Given the description of an element on the screen output the (x, y) to click on. 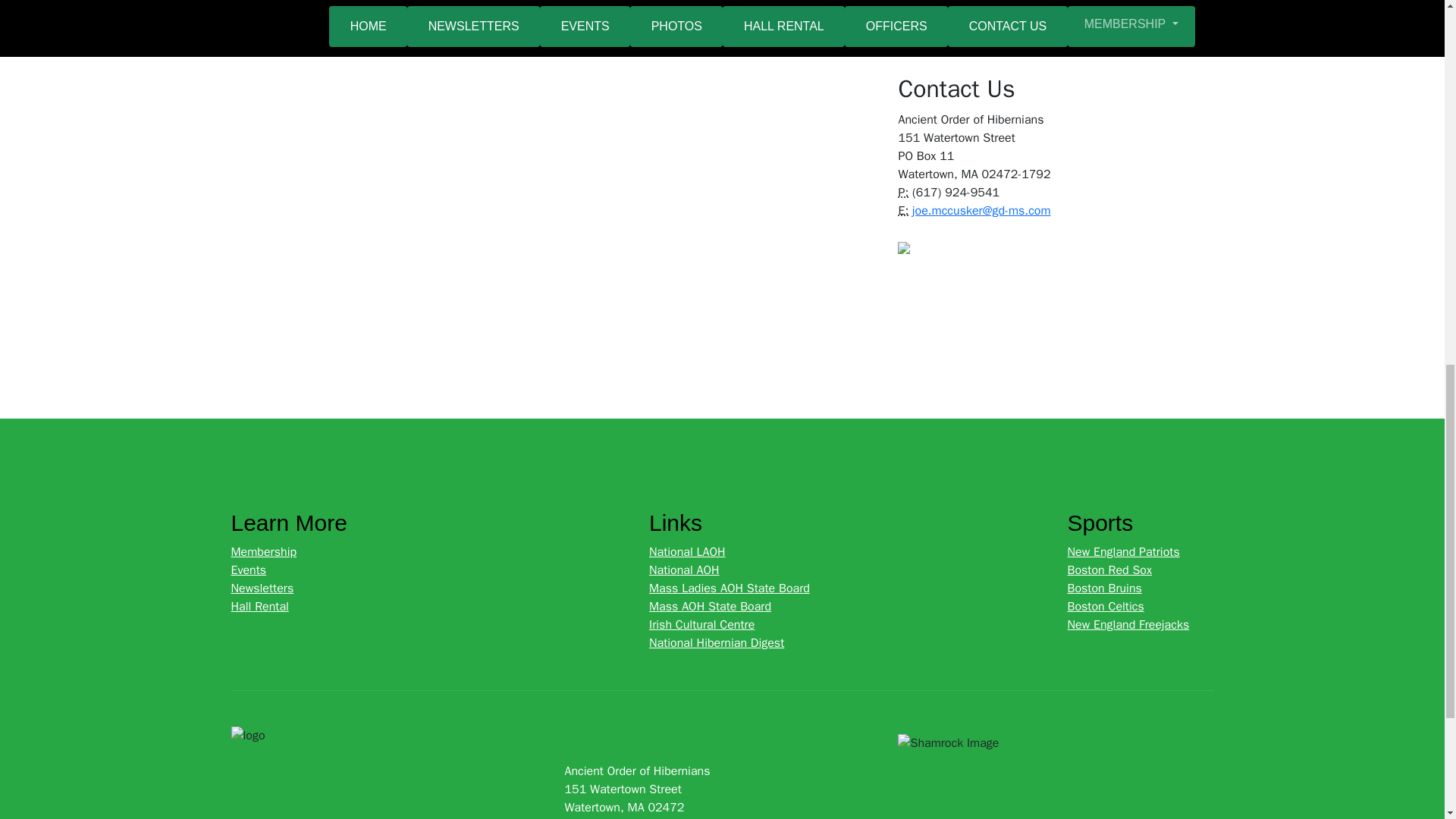
Boston Celtics (1104, 606)
New England Patriots (1123, 551)
Membership (263, 551)
New England Freejacks (1128, 624)
Events (248, 570)
Irish Cultural Centre (701, 624)
National AOH (684, 570)
Hall Rental (259, 606)
Boston Bruins (1104, 588)
Mass AOH State Board (710, 606)
